Given the description of an element on the screen output the (x, y) to click on. 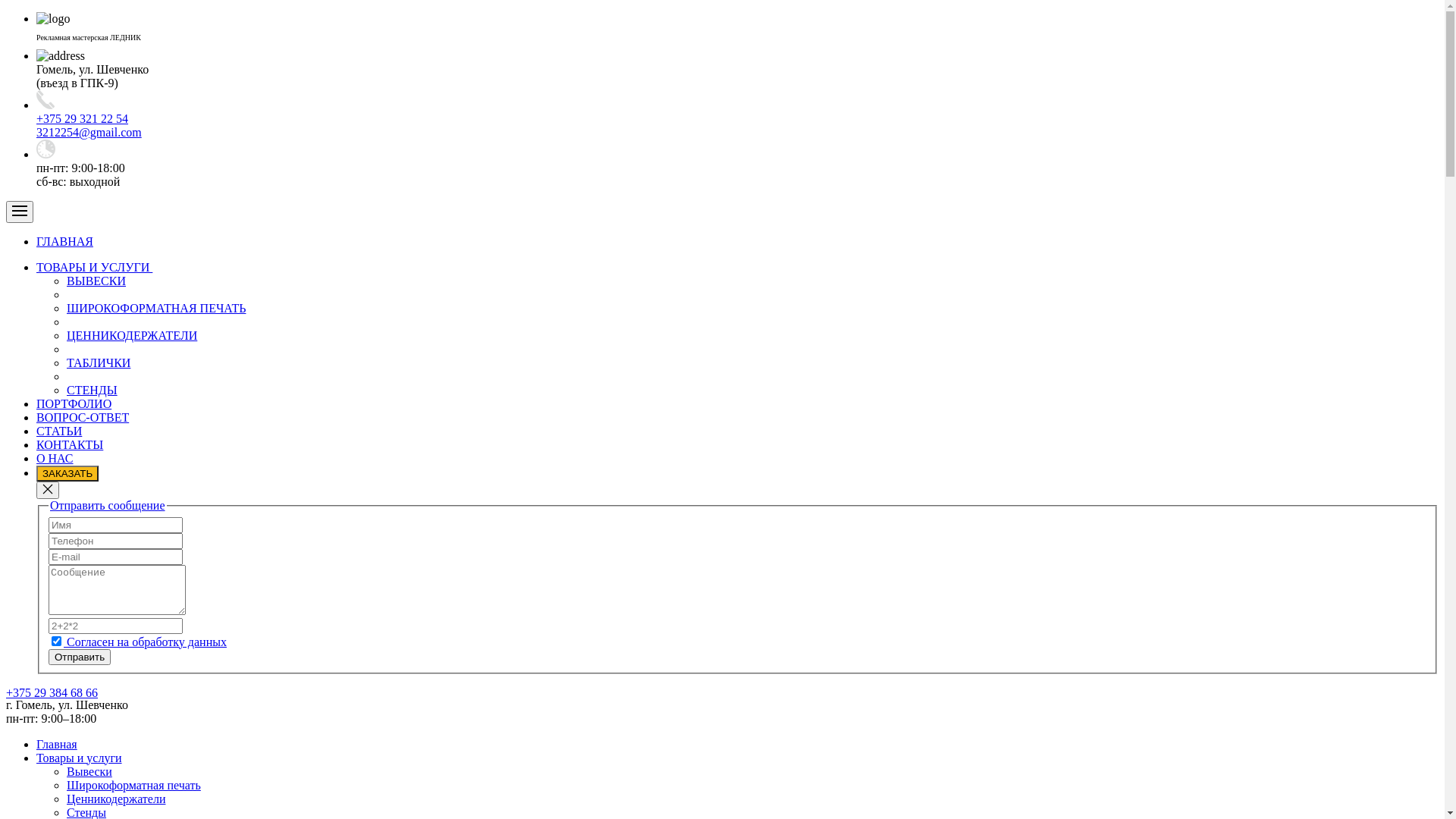
3212254@gmail.com Element type: text (88, 131)
+375 29 384 68 66 Element type: text (51, 692)
+375 29 321 22 54 Element type: text (82, 118)
